Given the description of an element on the screen output the (x, y) to click on. 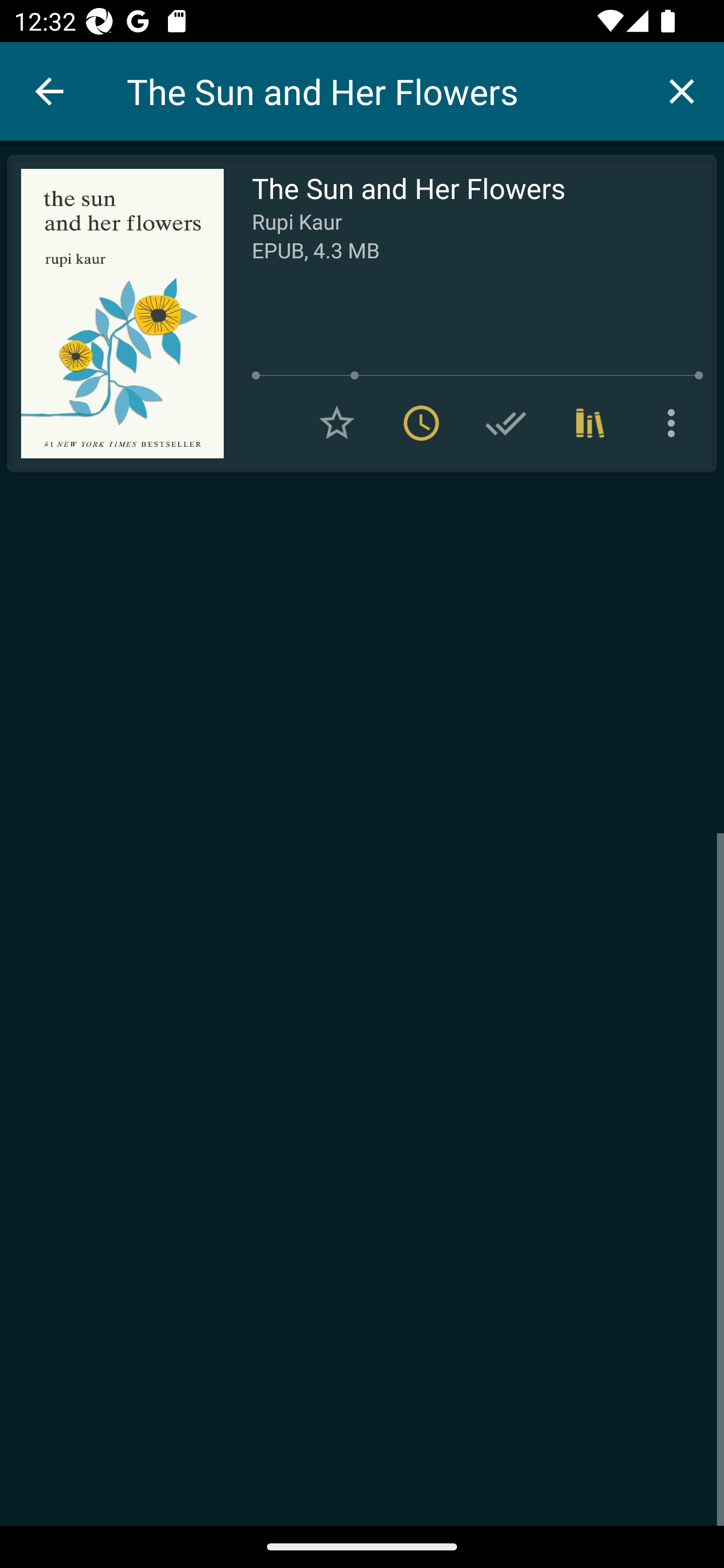
Back (49, 91)
The Sun and Her Flowers (382, 91)
Clear (681, 90)
Read The Sun and Her Flowers (115, 313)
Add to Favorites (336, 423)
Remove from To read (421, 423)
Add to Have read (505, 423)
Collections (1) (590, 423)
More options (674, 423)
